Given the description of an element on the screen output the (x, y) to click on. 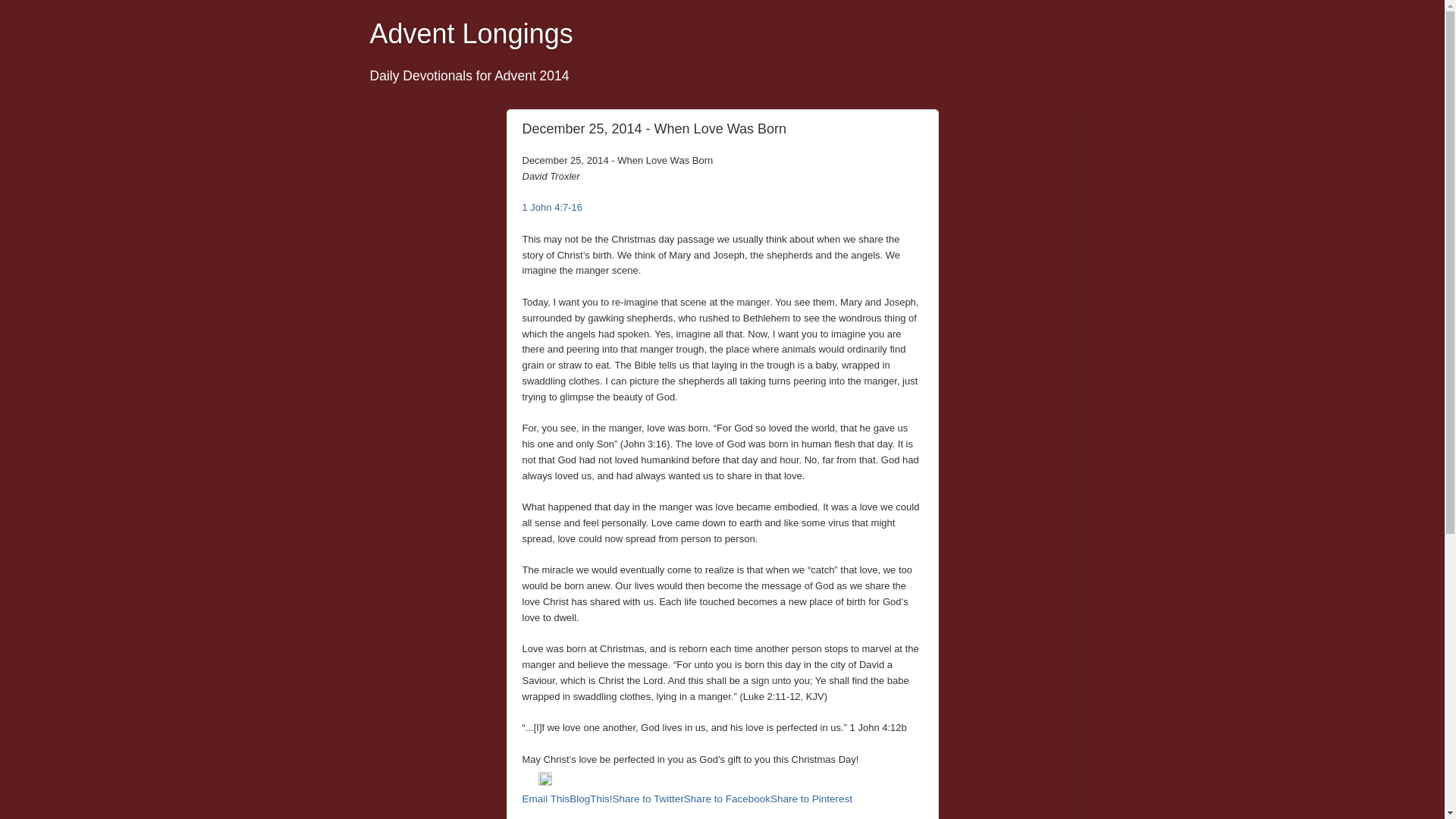
Share to Pinterest (810, 798)
Share to Facebook (727, 798)
Email This (545, 798)
Edit Post (544, 781)
Share to Twitter (648, 798)
BlogThis! (590, 798)
Email This (545, 798)
Share to Pinterest (810, 798)
Share to Twitter (648, 798)
Email Post (529, 781)
BlogThis! (590, 798)
Advent Longings (471, 33)
1 John 4:7-16 (551, 206)
Share to Facebook (727, 798)
